Given the description of an element on the screen output the (x, y) to click on. 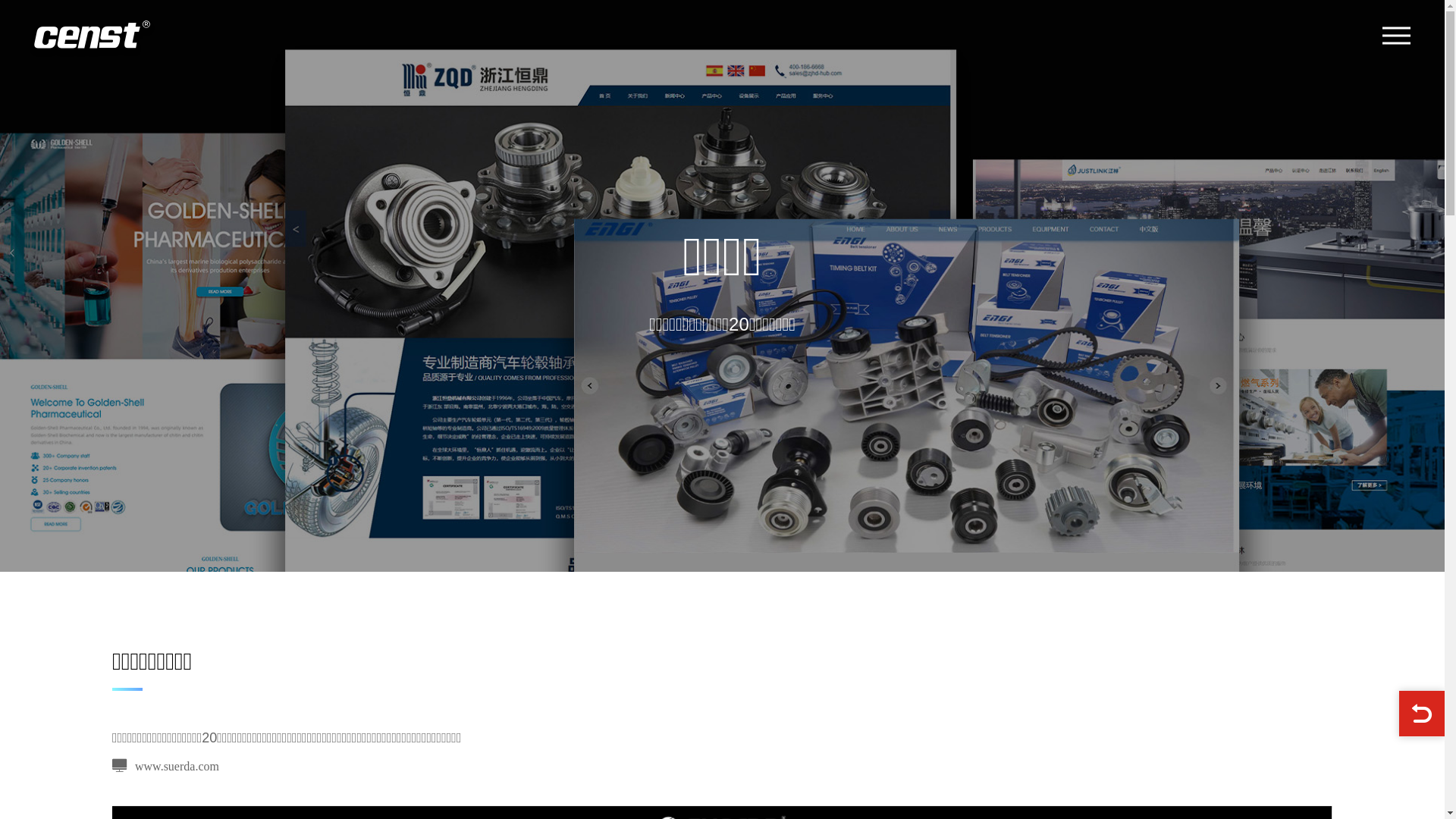
www.suerda.com Element type: text (165, 765)
